Given the description of an element on the screen output the (x, y) to click on. 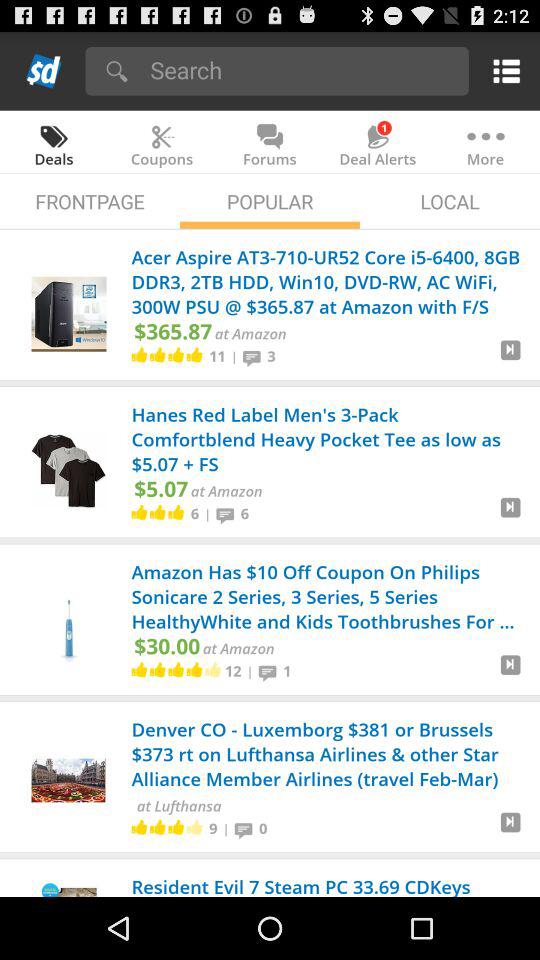
scroll to 12 (232, 670)
